Given the description of an element on the screen output the (x, y) to click on. 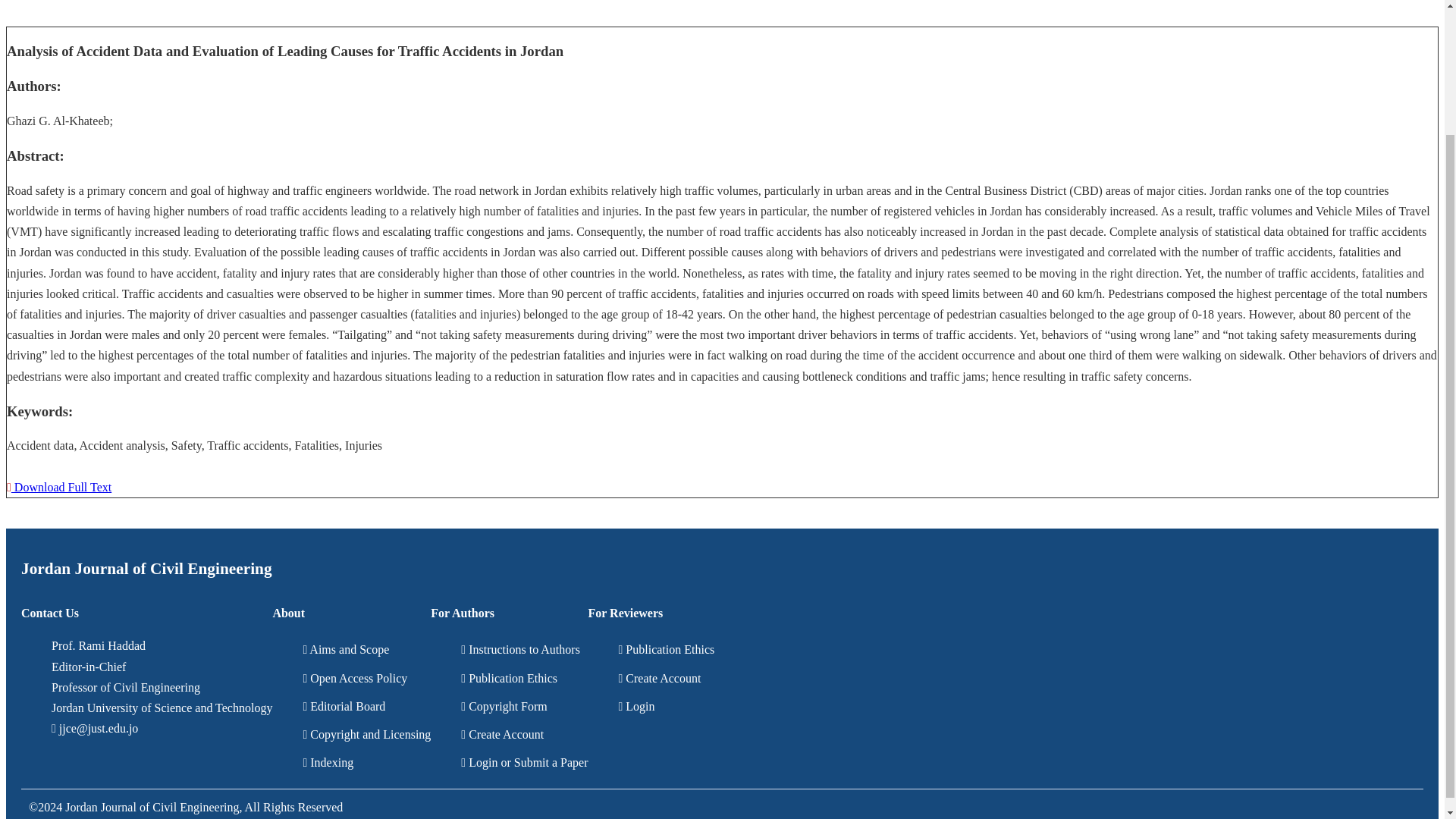
 Copyright and Licensing (366, 734)
 Open Access Policy (354, 677)
 Editorial Board (343, 706)
 Login (636, 706)
 Instructions to Authors (520, 649)
 Copyright Form (504, 706)
Download Full Text (59, 486)
 Publication Ethics (666, 649)
 Indexing (327, 762)
 Create Account (502, 734)
 Login or Submit a Paper (524, 762)
 Publication Ethics (509, 677)
 Create Account (659, 677)
 Aims and Scope (345, 649)
